Given the description of an element on the screen output the (x, y) to click on. 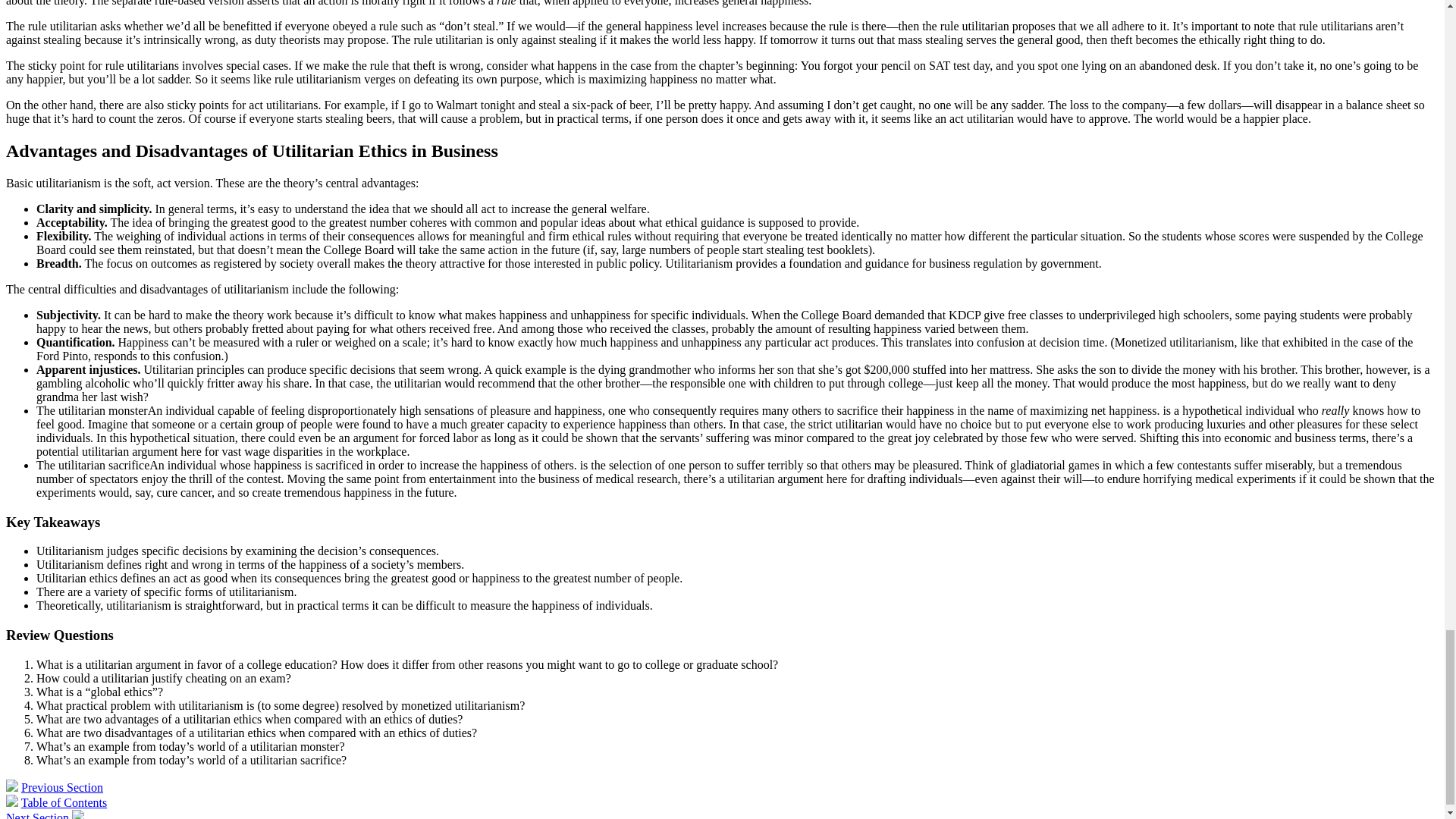
Table of Contents (64, 802)
Previous Section (62, 787)
utilitarian sacrifice (103, 464)
utilitarian monster (103, 410)
